Given the description of an element on the screen output the (x, y) to click on. 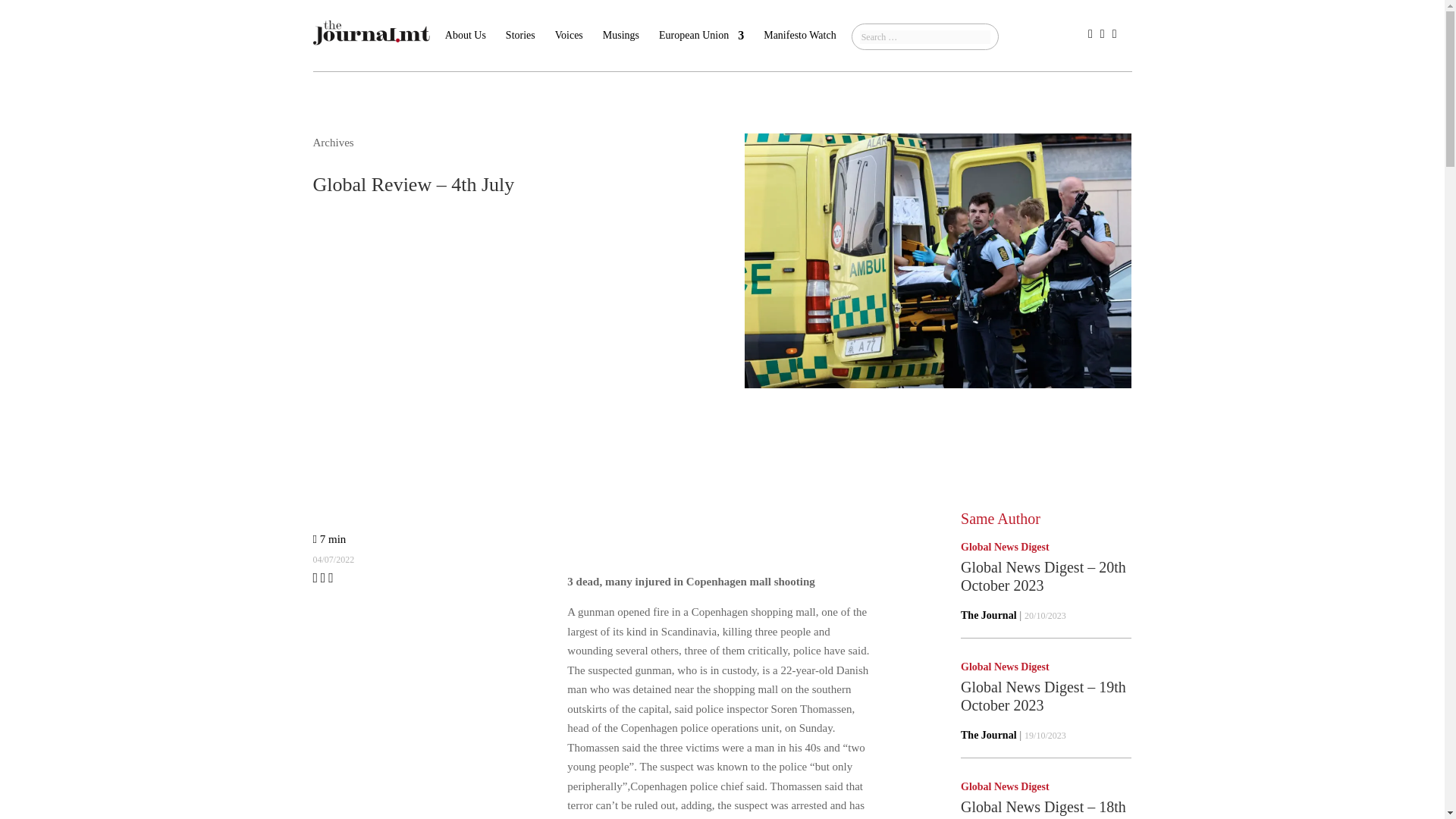
copenhagen-shooting (937, 260)
Musings (620, 48)
Manifesto Watch (798, 48)
About Us (465, 48)
Search for: (925, 37)
European Union (701, 48)
Archives (333, 142)
